Given the description of an element on the screen output the (x, y) to click on. 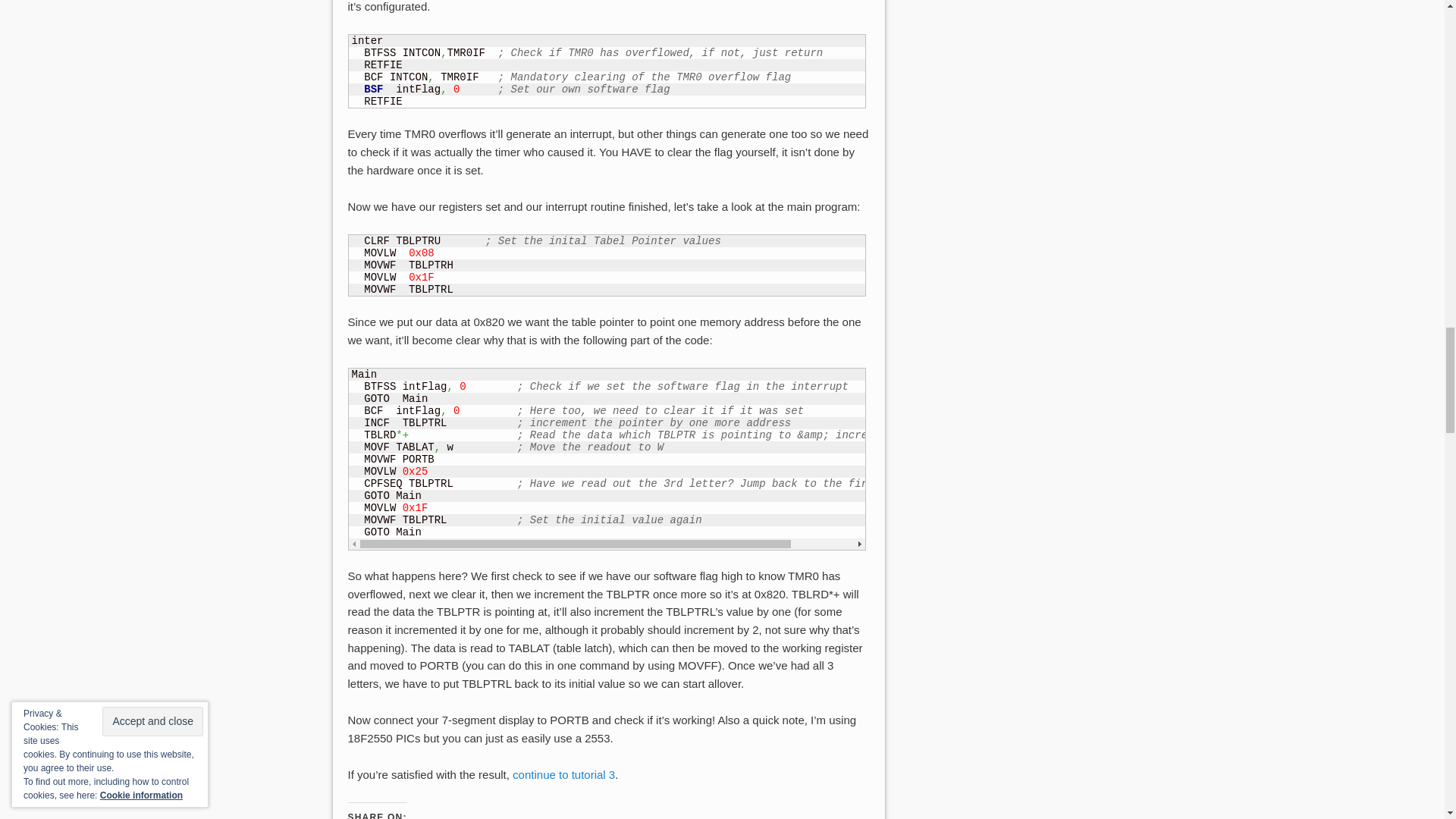
continue to tutorial 3 (563, 774)
